Given the description of an element on the screen output the (x, y) to click on. 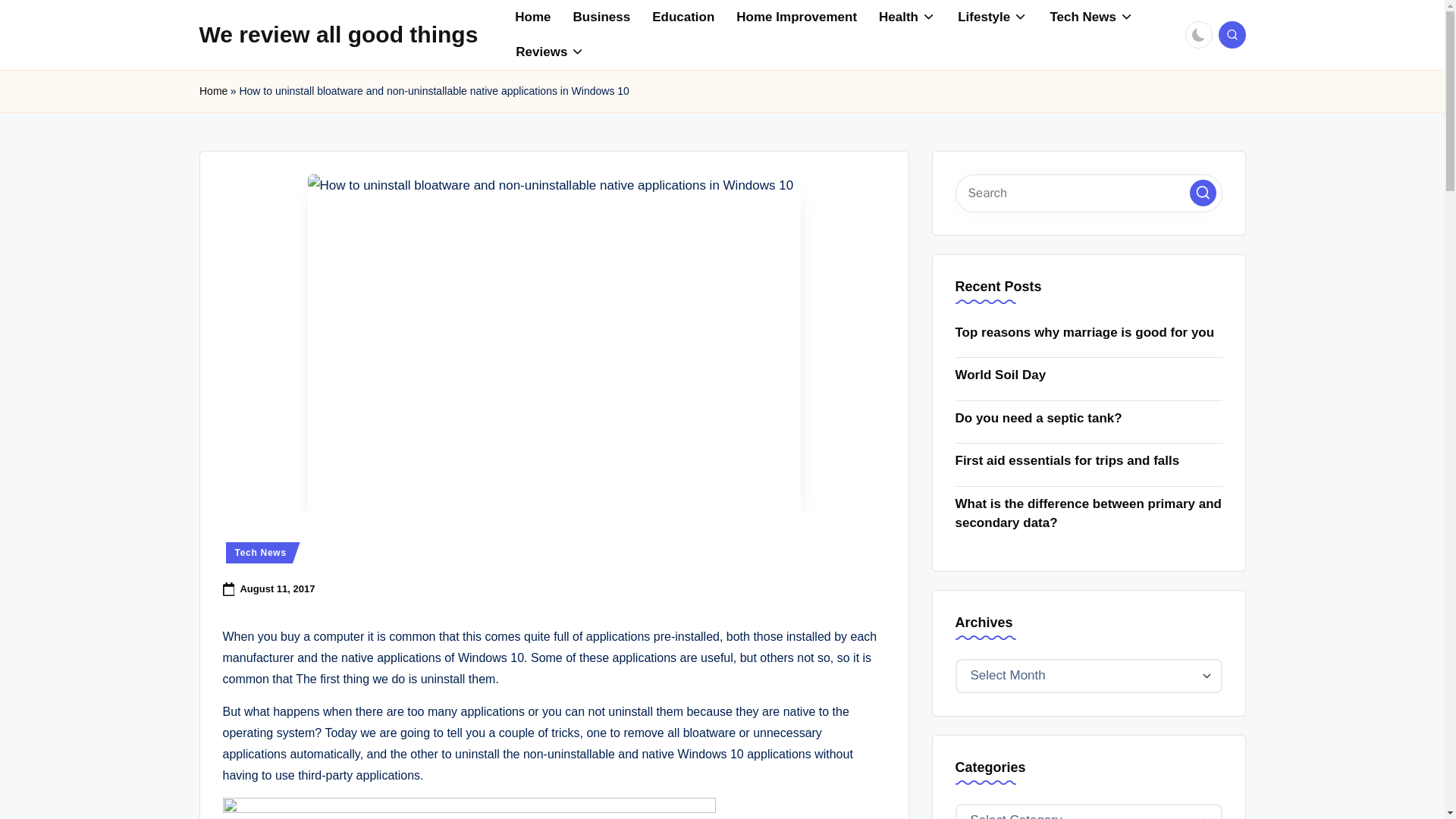
Home Improvement (796, 17)
Home (531, 17)
Lifestyle (992, 17)
Business (602, 17)
Education (683, 17)
Health (906, 17)
We review all good things (337, 34)
